Given the description of an element on the screen output the (x, y) to click on. 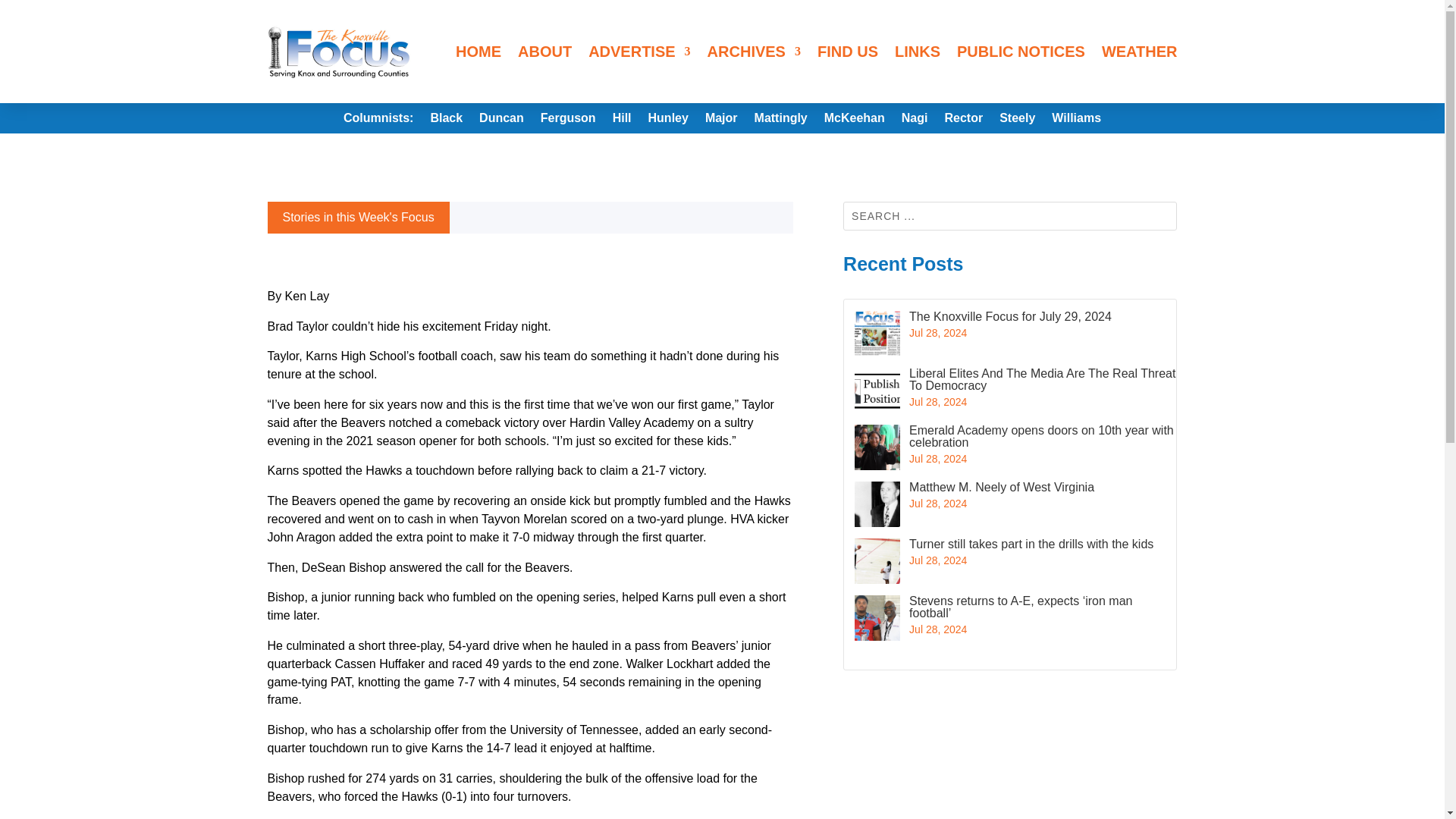
PUBLIC NOTICES (1020, 51)
FIND US (846, 51)
ADVERTISE (639, 51)
ARCHIVES (753, 51)
ABOUT (545, 51)
WEATHER (1139, 51)
